Given the description of an element on the screen output the (x, y) to click on. 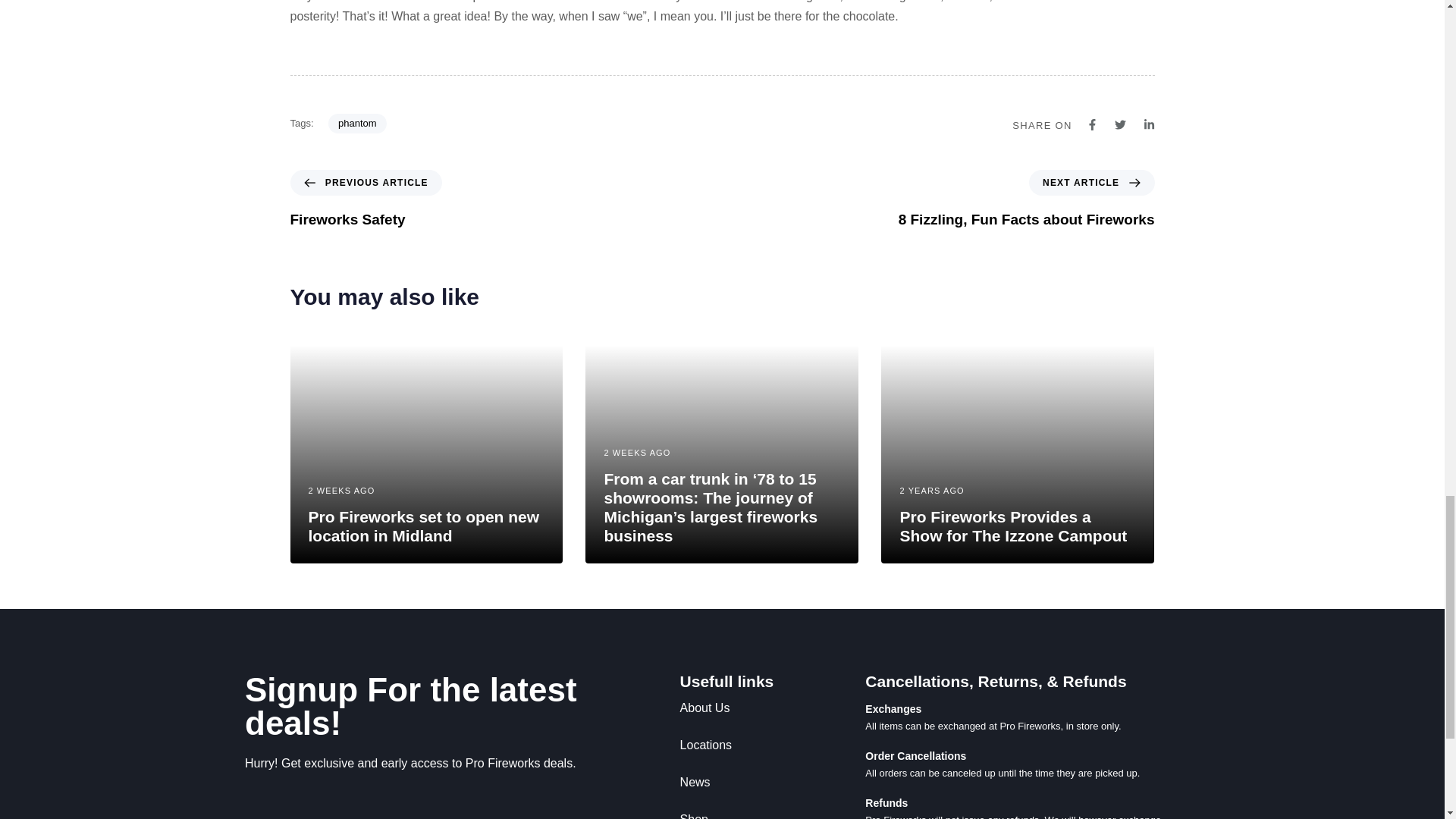
News (748, 782)
phantom (1026, 199)
About Us (358, 123)
Shop (748, 707)
Pro Fireworks set to open new location in Midland (365, 199)
Locations (748, 814)
Pro Fireworks Provides a Show for The Izzone Campout (422, 525)
